Given the description of an element on the screen output the (x, y) to click on. 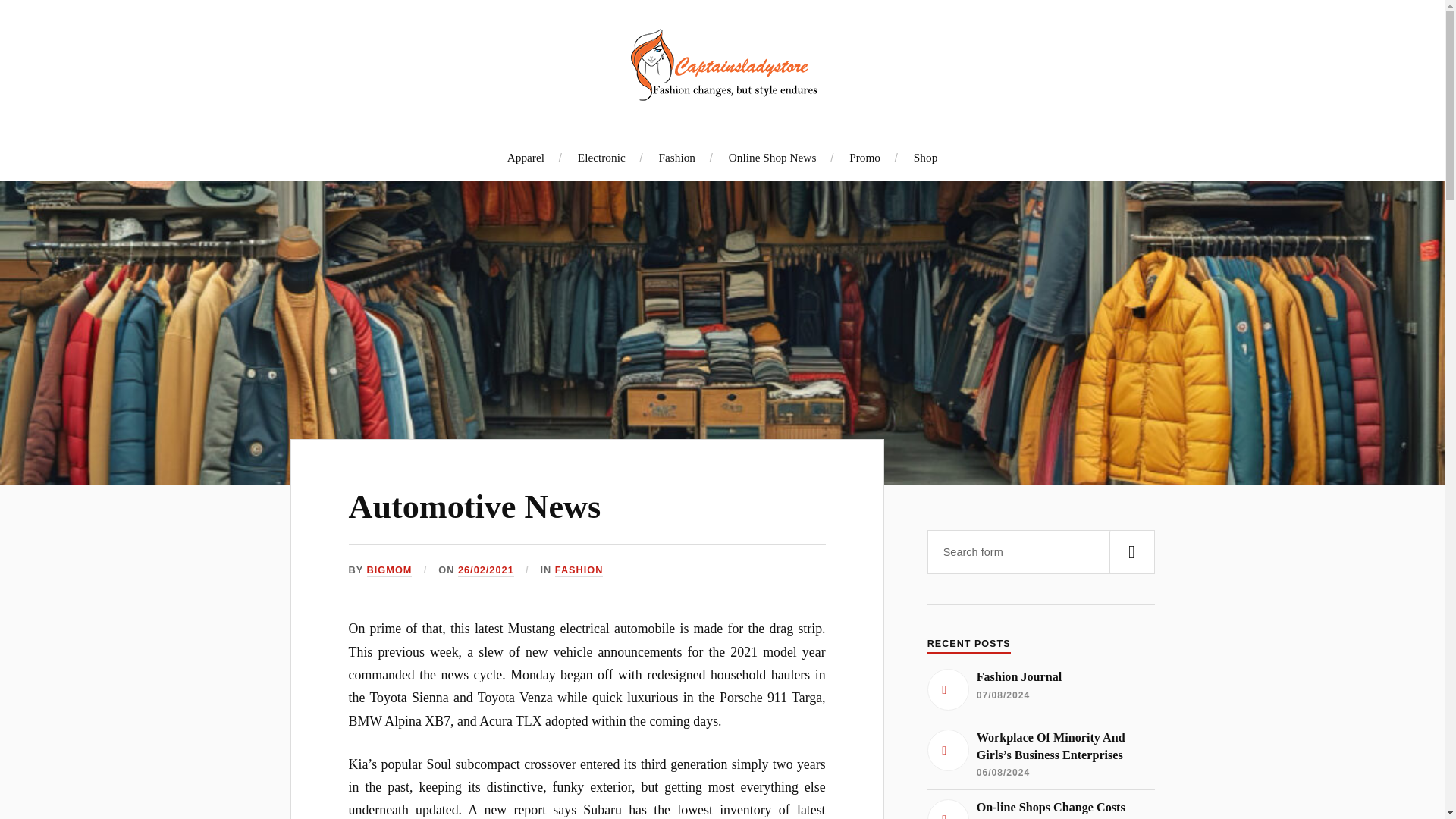
Automotive News (475, 506)
Online Shop News (772, 156)
FASHION (579, 570)
Posts by Bigmom (389, 570)
BIGMOM (389, 570)
Electronic (602, 156)
